Given the description of an element on the screen output the (x, y) to click on. 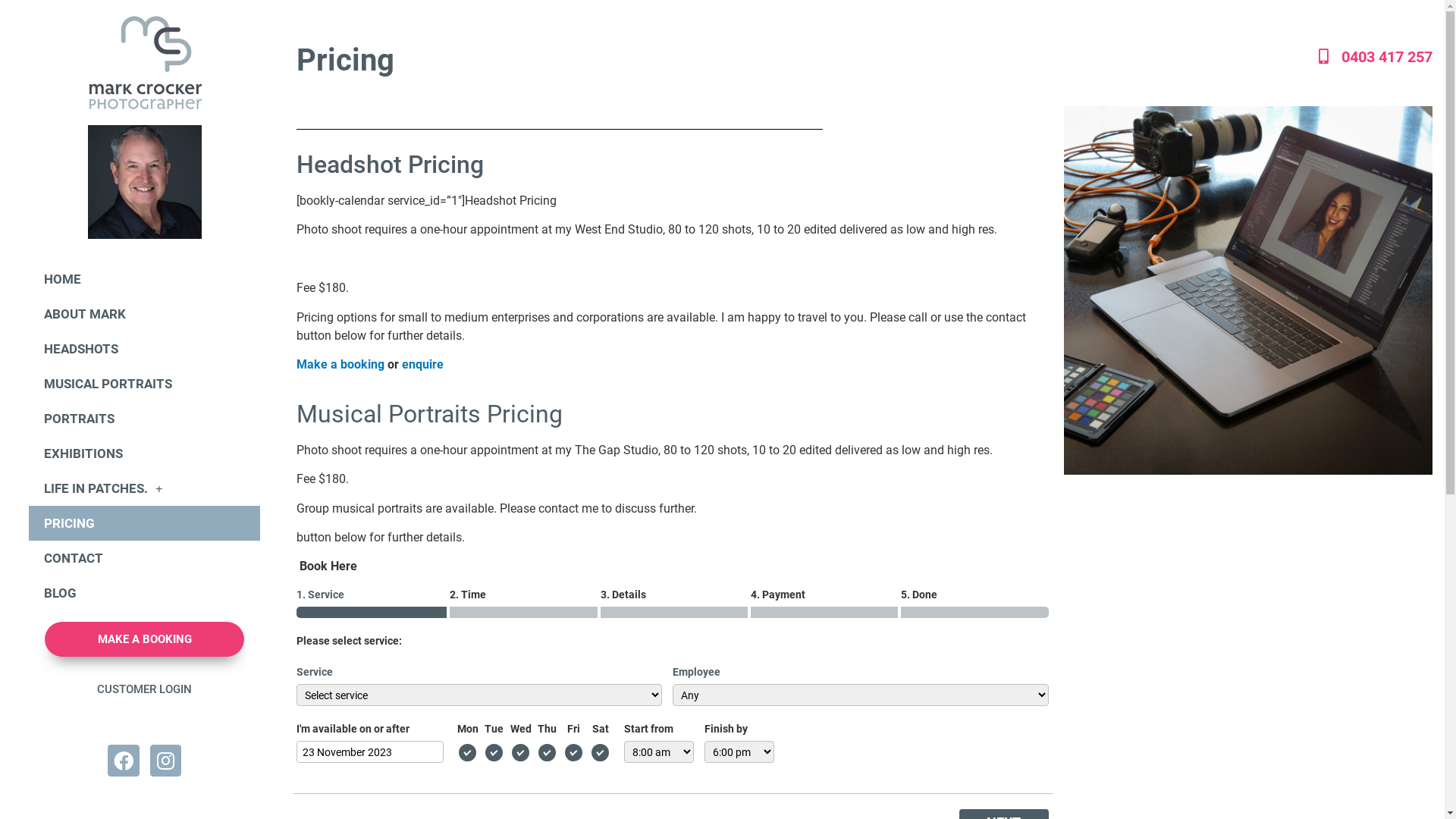
HOME Element type: text (144, 278)
PORTRAITS Element type: text (144, 418)
MAKE A BOOKING Element type: text (143, 638)
HEADSHOTS Element type: text (144, 348)
CUSTOMER LOGIN Element type: text (144, 688)
BLOG Element type: text (144, 592)
CONTACT Element type: text (144, 557)
0403 417 257 Element type: text (1266, 56)
MUSICAL PORTRAITS Element type: text (144, 383)
Make a booking Element type: text (340, 364)
ABOUT MARK Element type: text (144, 313)
LIFE IN PATCHES. Element type: text (144, 487)
EXHIBITIONS Element type: text (144, 453)
PRICING Element type: text (144, 522)
enquire  Element type: text (423, 364)
